Given the description of an element on the screen output the (x, y) to click on. 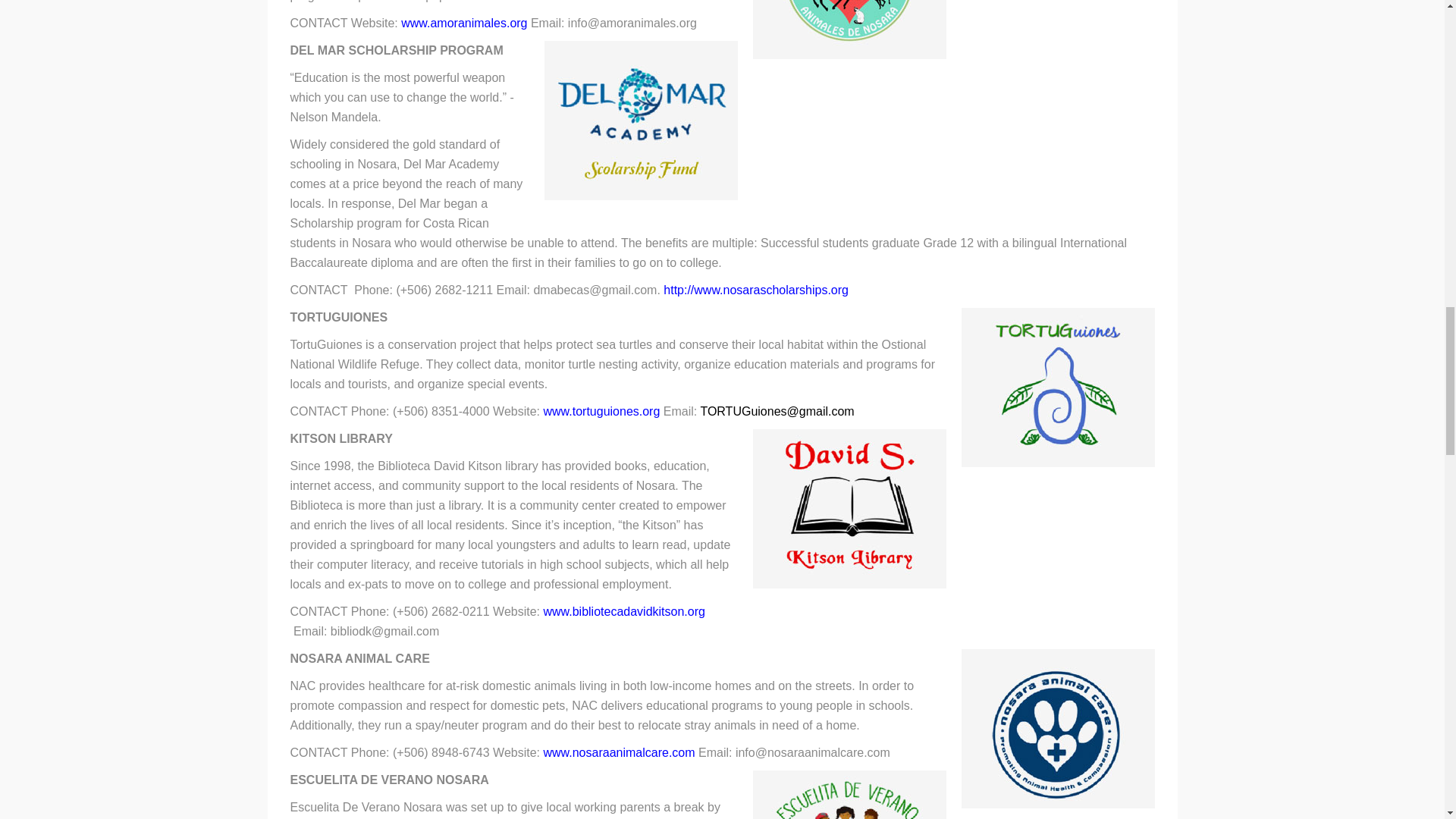
www.bibliotecadavidkitson.org   (496, 621)
www.nosaraanimalcare.com (620, 752)
www.amoranimales.org (464, 22)
www.tortuguiones.org (602, 410)
